Given the description of an element on the screen output the (x, y) to click on. 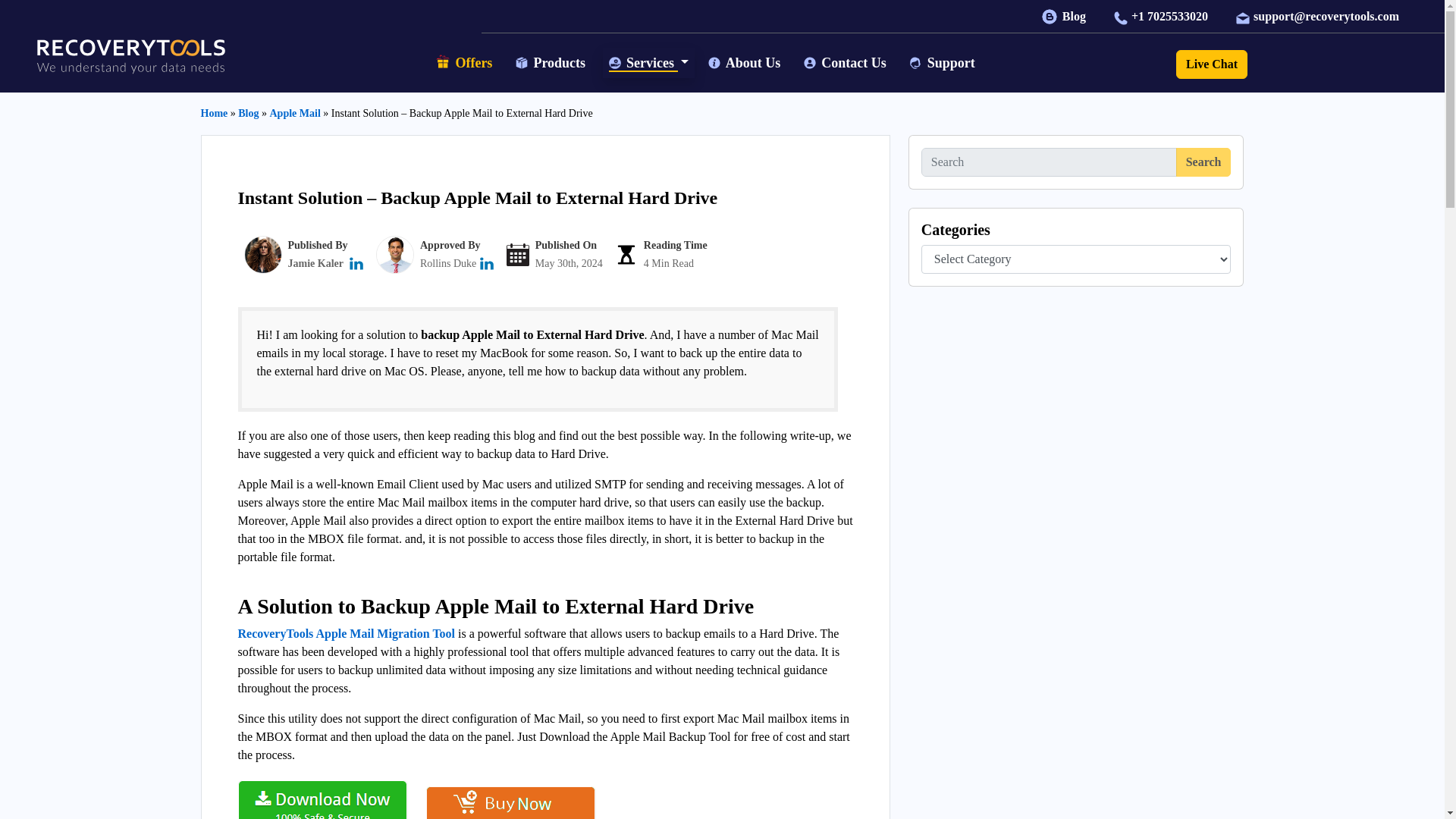
Jamie Kaler (315, 263)
Support  (943, 62)
Contact Us  (846, 62)
RecoveryTools Apple Mail Migration Tool (346, 633)
Live Chat (1211, 63)
About Us  (745, 62)
Blog (248, 112)
Apple Mail (294, 112)
Home (213, 112)
Products  (552, 62)
Services  (648, 62)
Offers  (465, 63)
Blog (1065, 15)
Search (1203, 162)
